Given the description of an element on the screen output the (x, y) to click on. 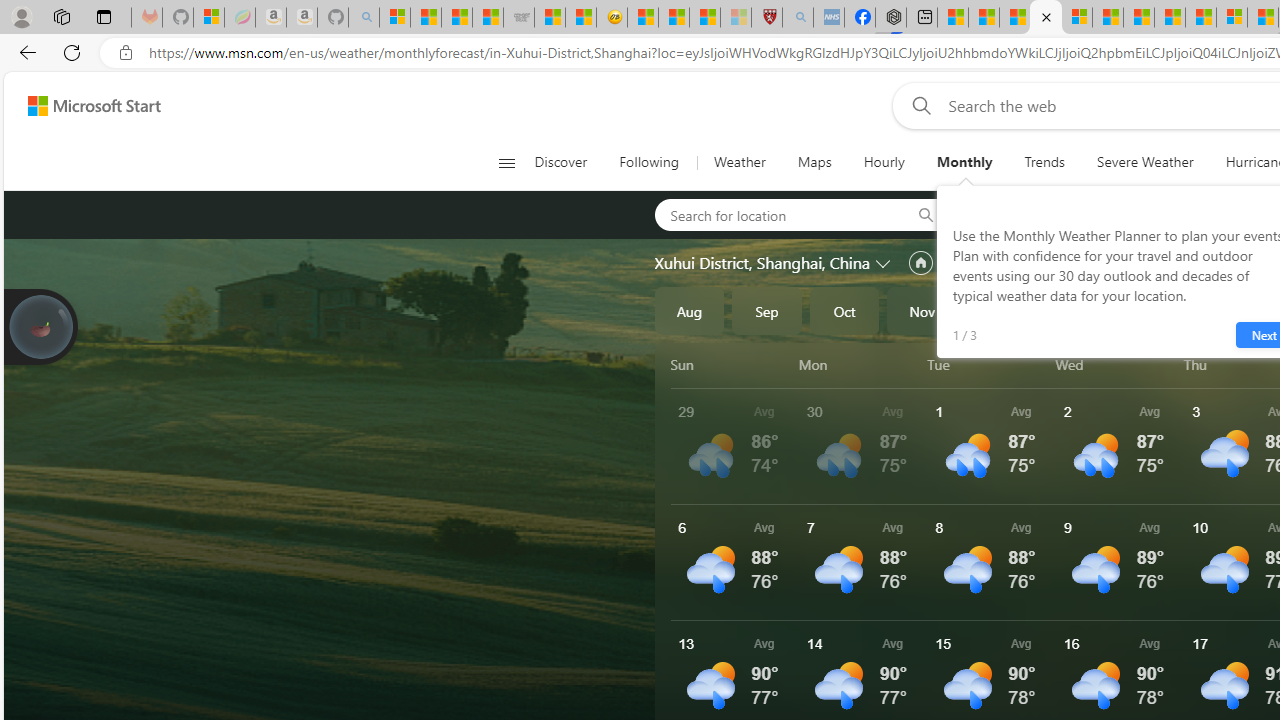
Join us in planting real trees to help our planet! (40, 327)
Mon (859, 363)
Hourly (883, 162)
NCL Adult Asthma Inhaler Choice Guideline - Sleeping (828, 17)
Change location (884, 262)
Wed (1115, 363)
Web search (917, 105)
Nov (922, 310)
